Given the description of an element on the screen output the (x, y) to click on. 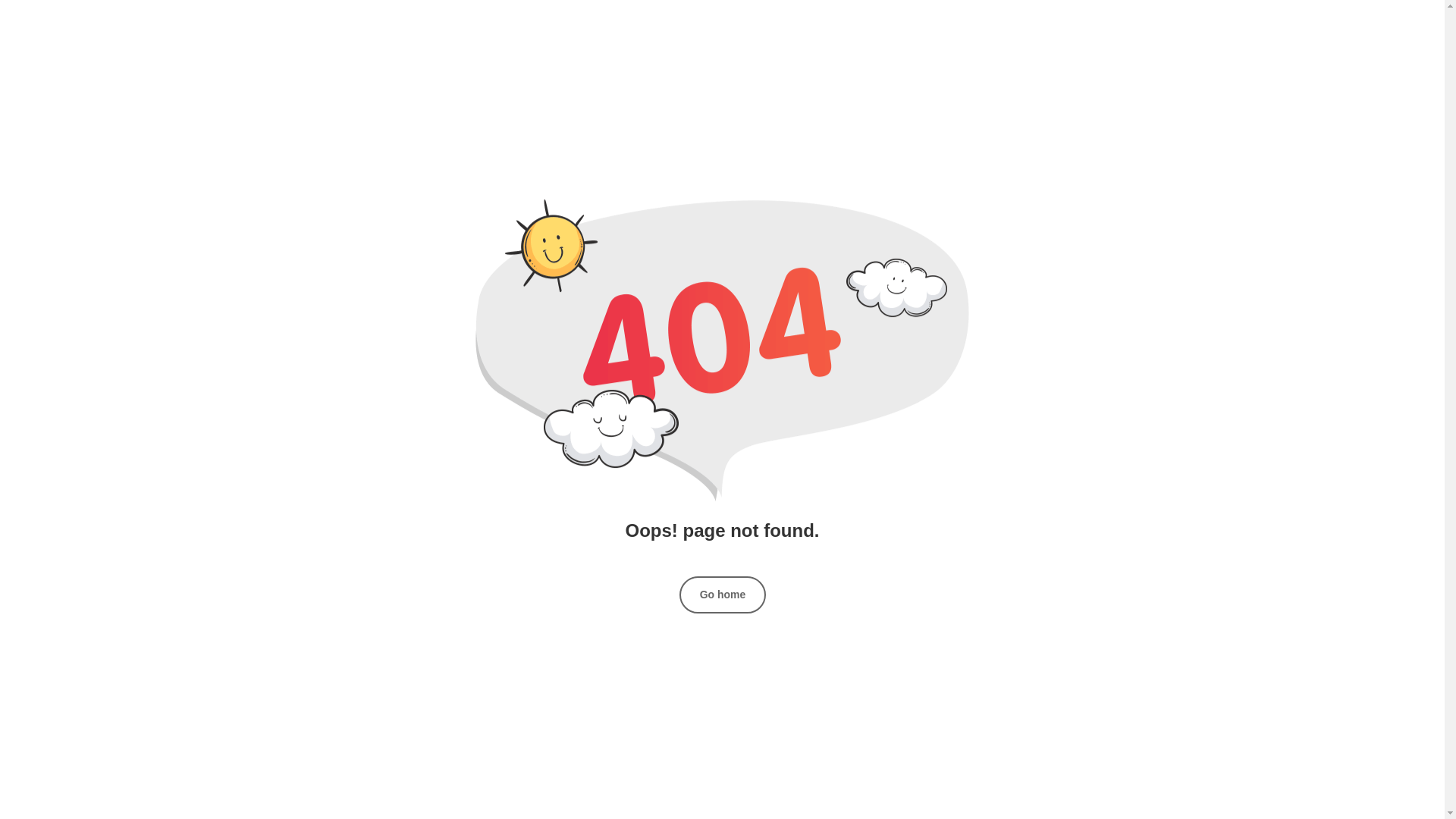
Go home (723, 594)
